Given the description of an element on the screen output the (x, y) to click on. 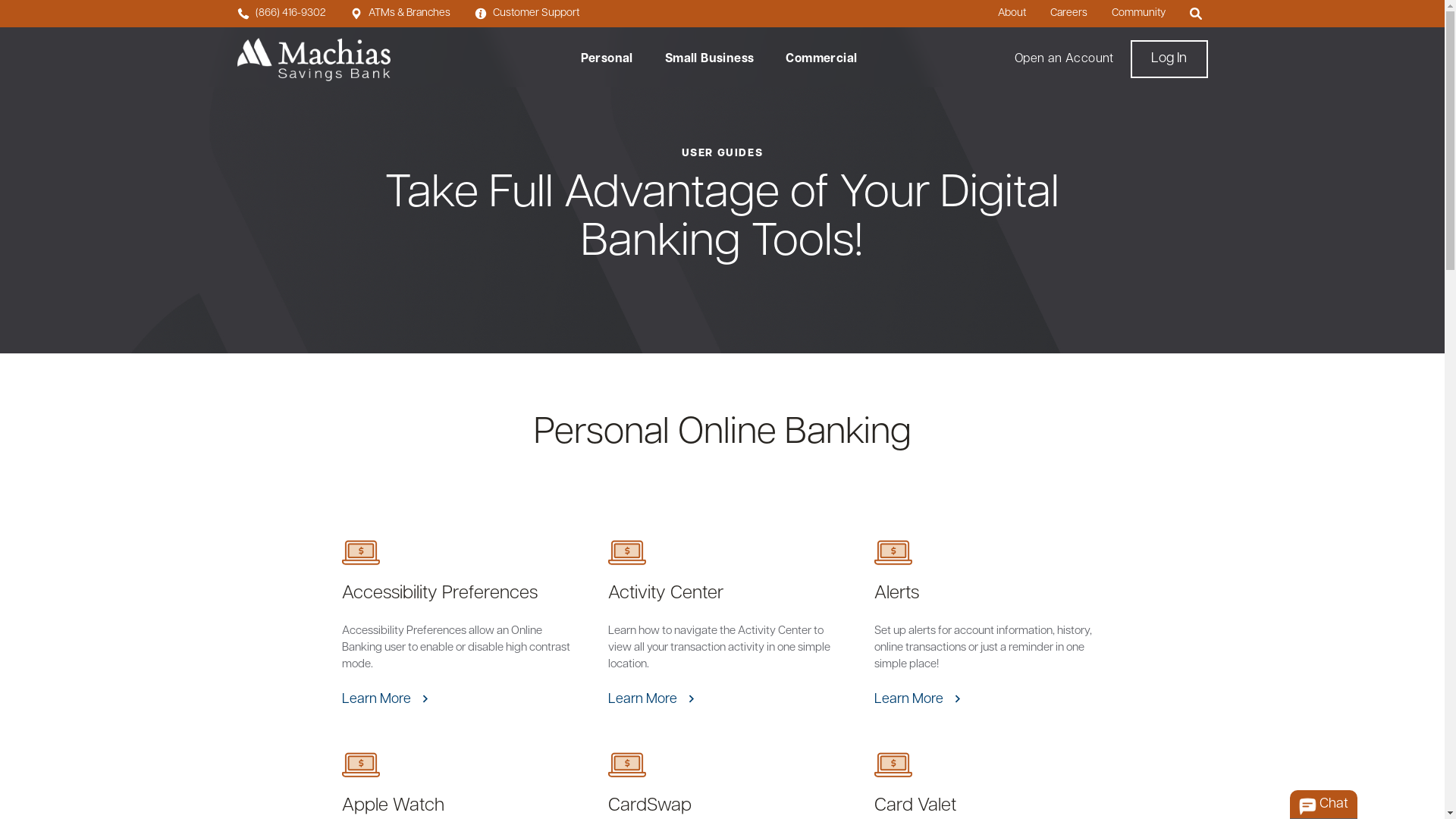
Open an Account Element type: text (1063, 58)
Skip to content Element type: text (44, 9)
Community Element type: text (1138, 13)
Small Business Element type: text (709, 59)
Careers Element type: text (1067, 13)
(866) 416-9302 Element type: text (280, 13)
ATMs & Branches Element type: text (400, 13)
Log In Element type: text (1169, 59)
About Element type: text (1011, 13)
Commercial Element type: text (820, 59)
Personal Element type: text (606, 59)
Learn More Element type: text (645, 699)
Customer Support Element type: text (526, 13)
Learn More Element type: text (911, 699)
Learn More Element type: text (379, 699)
